Given the description of an element on the screen output the (x, y) to click on. 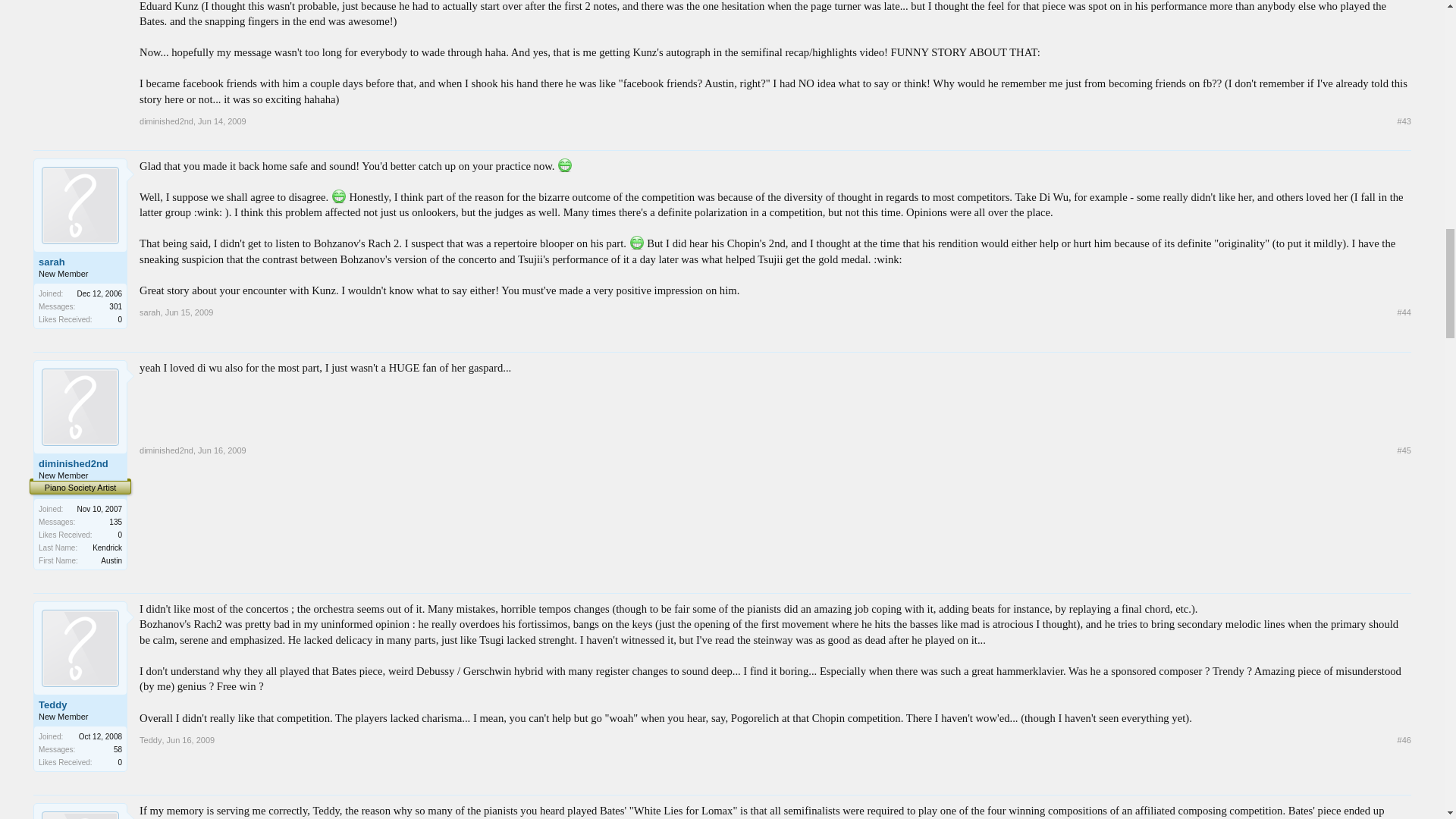
sarah (149, 311)
diminished2nd (166, 121)
Big Grin    :D (338, 196)
Jun 14, 2009 (222, 121)
301 (115, 306)
Permalink (1403, 121)
Permalink (222, 121)
sarah (80, 262)
Big Grin    :D (564, 164)
Jun 15, 2009 (189, 311)
